Given the description of an element on the screen output the (x, y) to click on. 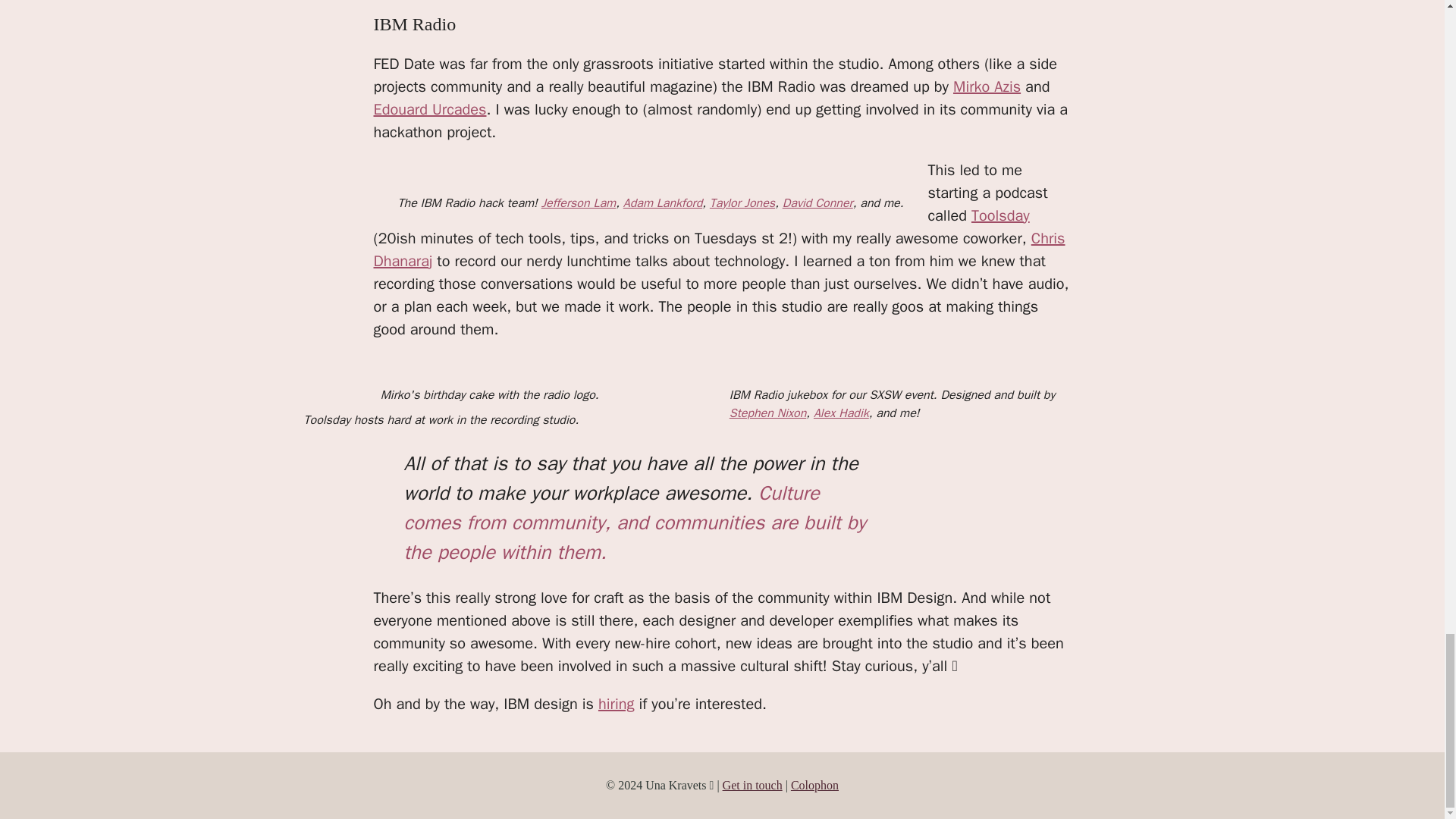
Adam Lankford (663, 202)
Chris Dhanaraj (718, 250)
Get in touch (752, 784)
Edouard Urcades (429, 108)
David Conner (818, 202)
Stephen Nixon (767, 412)
hiring (616, 703)
Taylor Jones (742, 202)
Alex Hadik (841, 412)
